Given the description of an element on the screen output the (x, y) to click on. 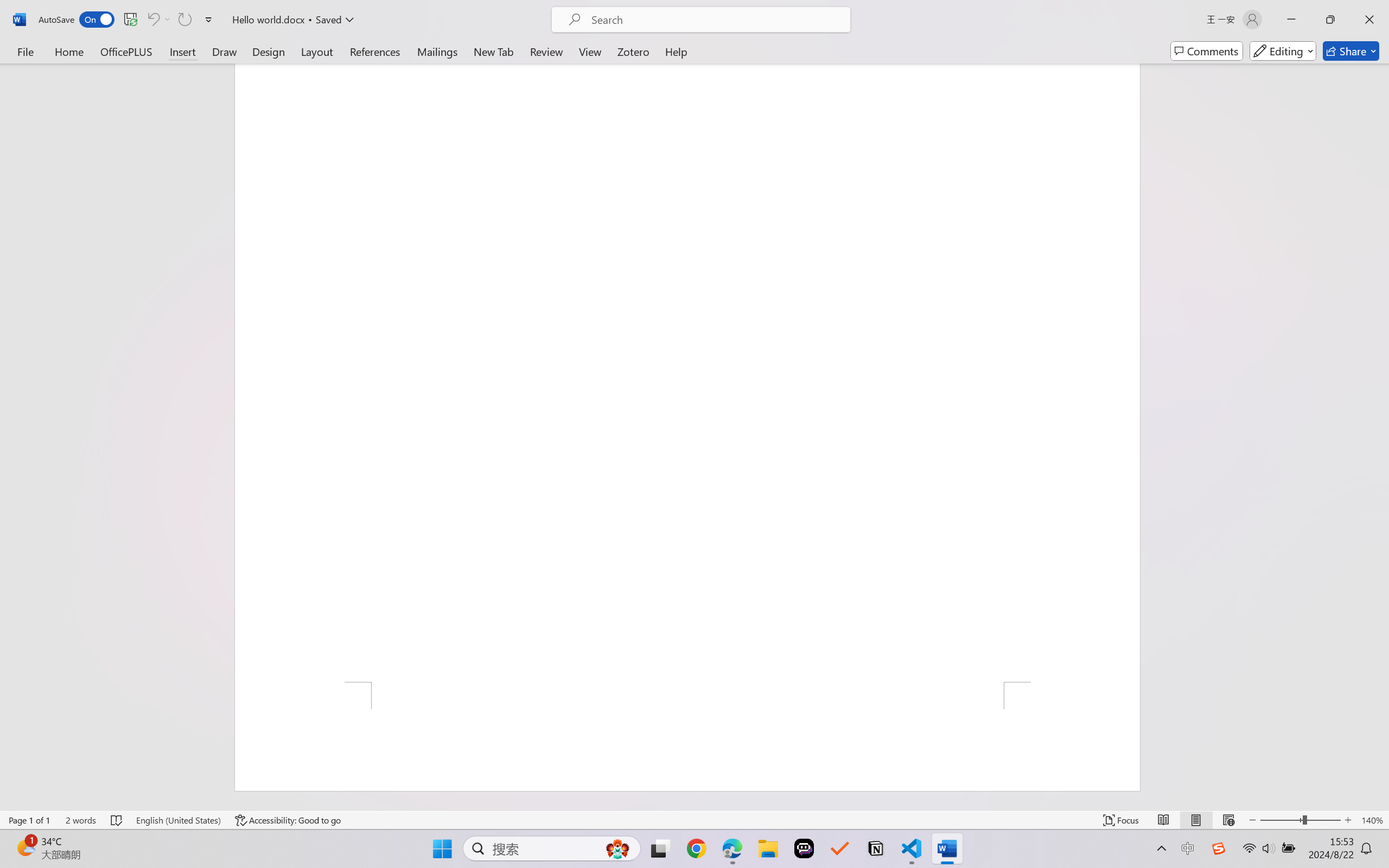
Can't Undo (158, 19)
Microsoft search (715, 19)
Read Mode (1163, 819)
Comments (1206, 50)
Insert (182, 51)
Can't Repeat (184, 19)
Class: NetUIScrollBar (1382, 436)
Review (546, 51)
Page 1 content (687, 372)
Web Layout (1228, 819)
Spelling and Grammar Check No Errors (117, 819)
OfficePLUS (126, 51)
Mailings (437, 51)
New Tab (493, 51)
